Given the description of an element on the screen output the (x, y) to click on. 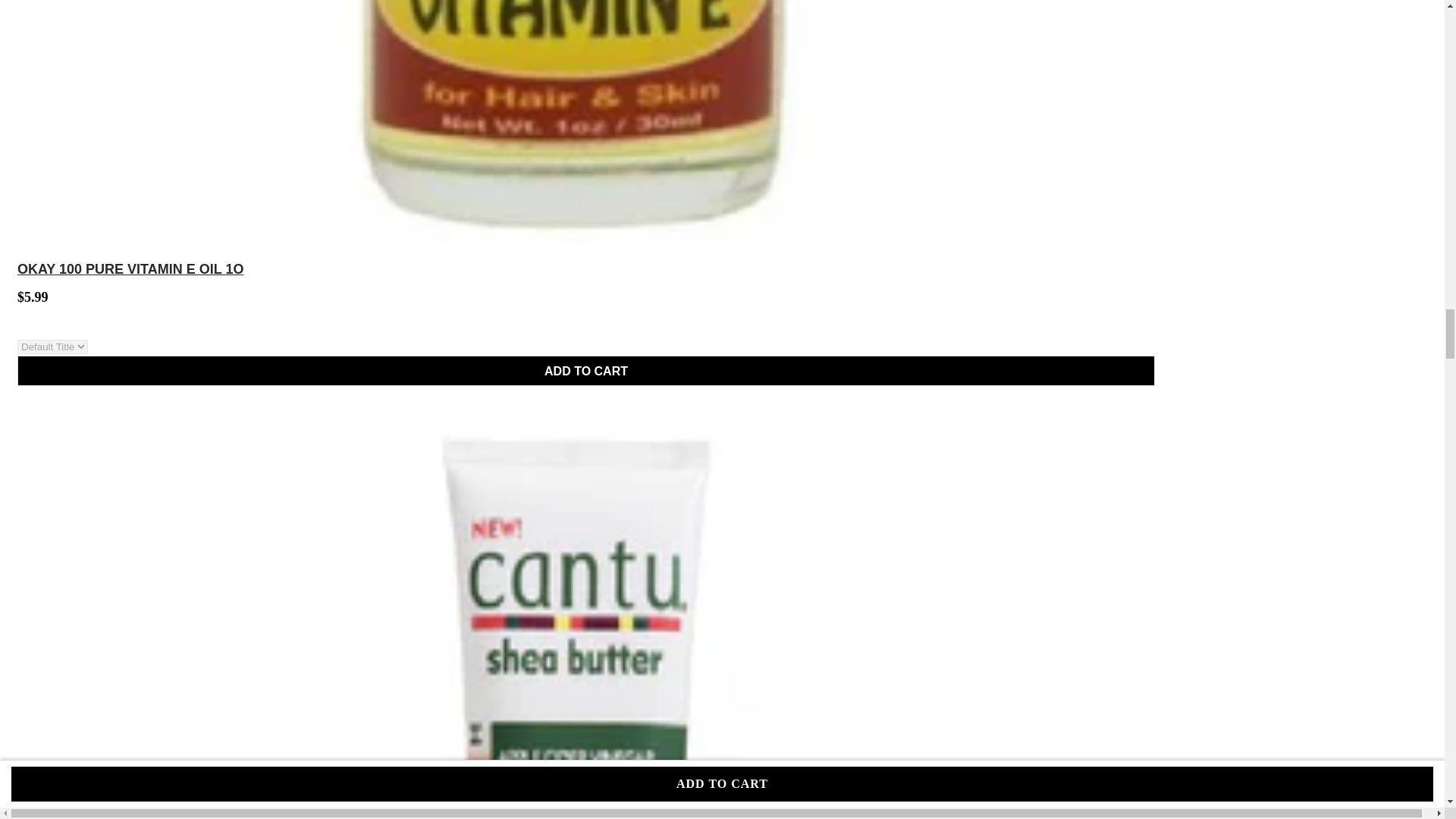
Add to Cart (585, 370)
Add To Wishlist (1169, 351)
